Given the description of an element on the screen output the (x, y) to click on. 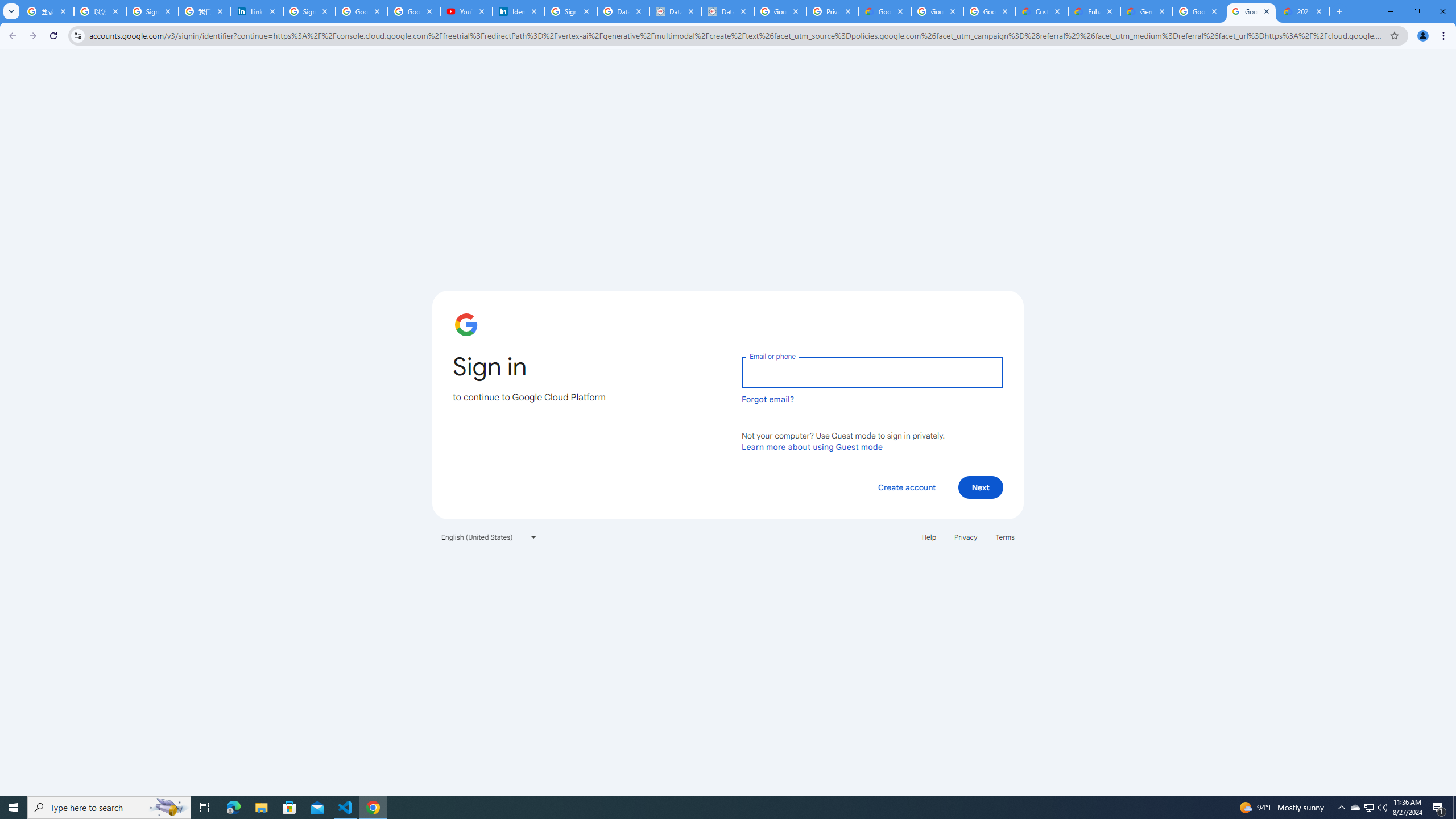
Forgot email? (767, 398)
Learn more about using Guest mode (812, 446)
Google Cloud Platform (1251, 11)
Privacy (965, 536)
Create account (905, 486)
Google Workspace - Specific Terms (936, 11)
Google Workspace - Specific Terms (989, 11)
